Given the description of an element on the screen output the (x, y) to click on. 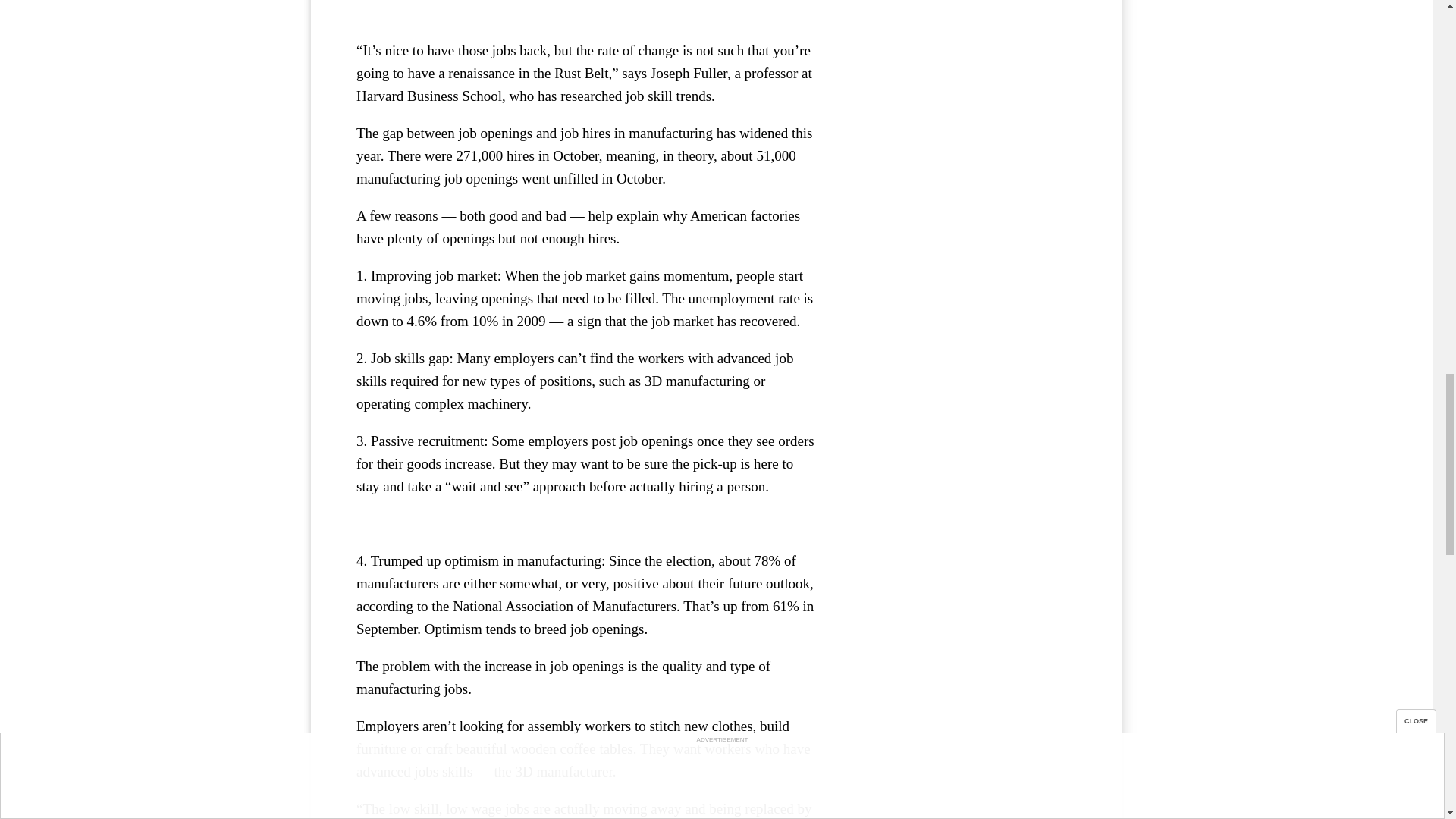
3rd party ad content (587, 6)
